Given the description of an element on the screen output the (x, y) to click on. 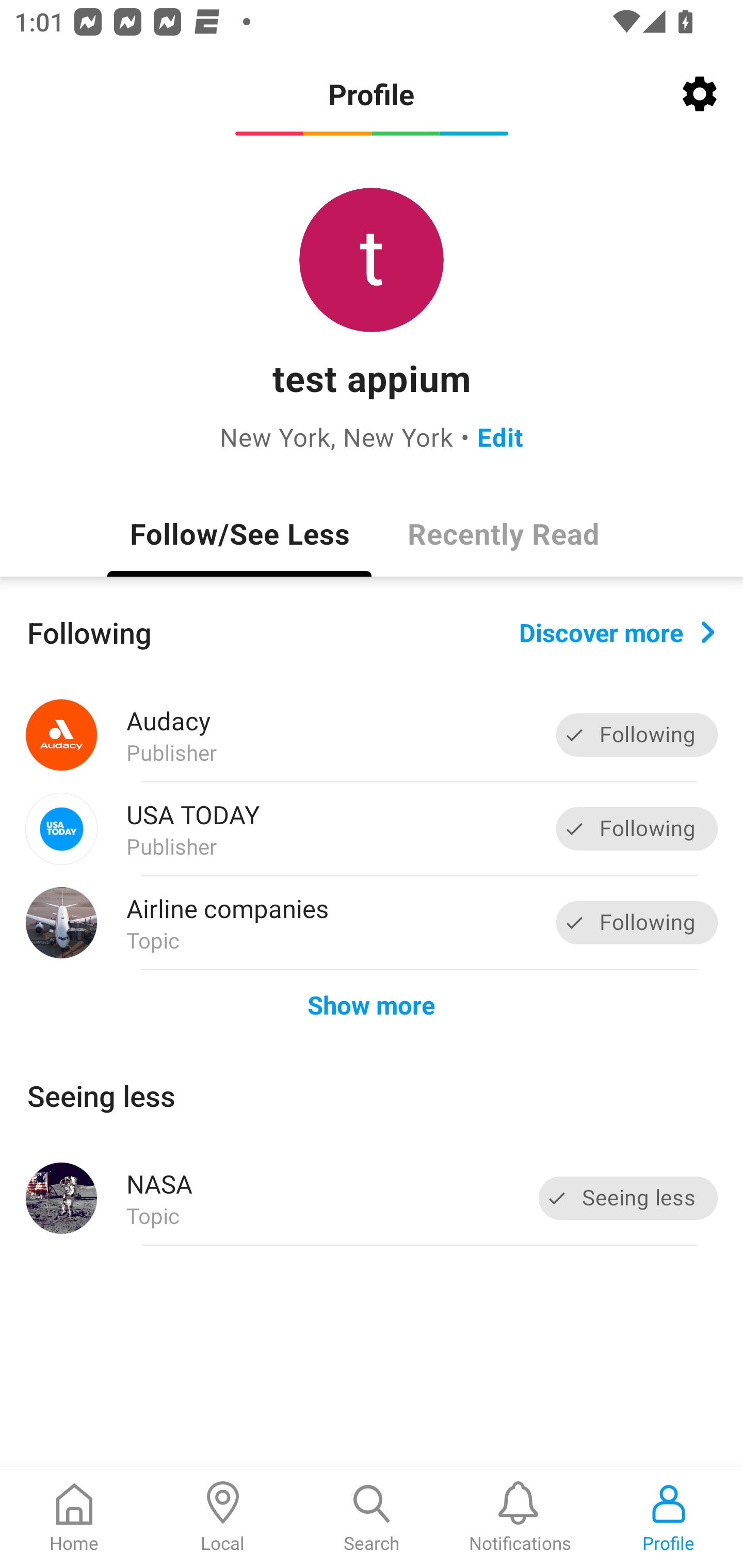
Settings (699, 93)
Edit (500, 436)
Recently Read (503, 533)
Discover more (617, 631)
Audacy Publisher Following (371, 735)
Following (636, 735)
USA TODAY Publisher Following (371, 829)
Following (636, 828)
Airline companies Topic Following (371, 922)
Following (636, 922)
Show more (371, 1004)
NASA Topic Seeing less (371, 1197)
Seeing less (627, 1197)
Home (74, 1517)
Local (222, 1517)
Search (371, 1517)
Notifications (519, 1517)
